Given the description of an element on the screen output the (x, y) to click on. 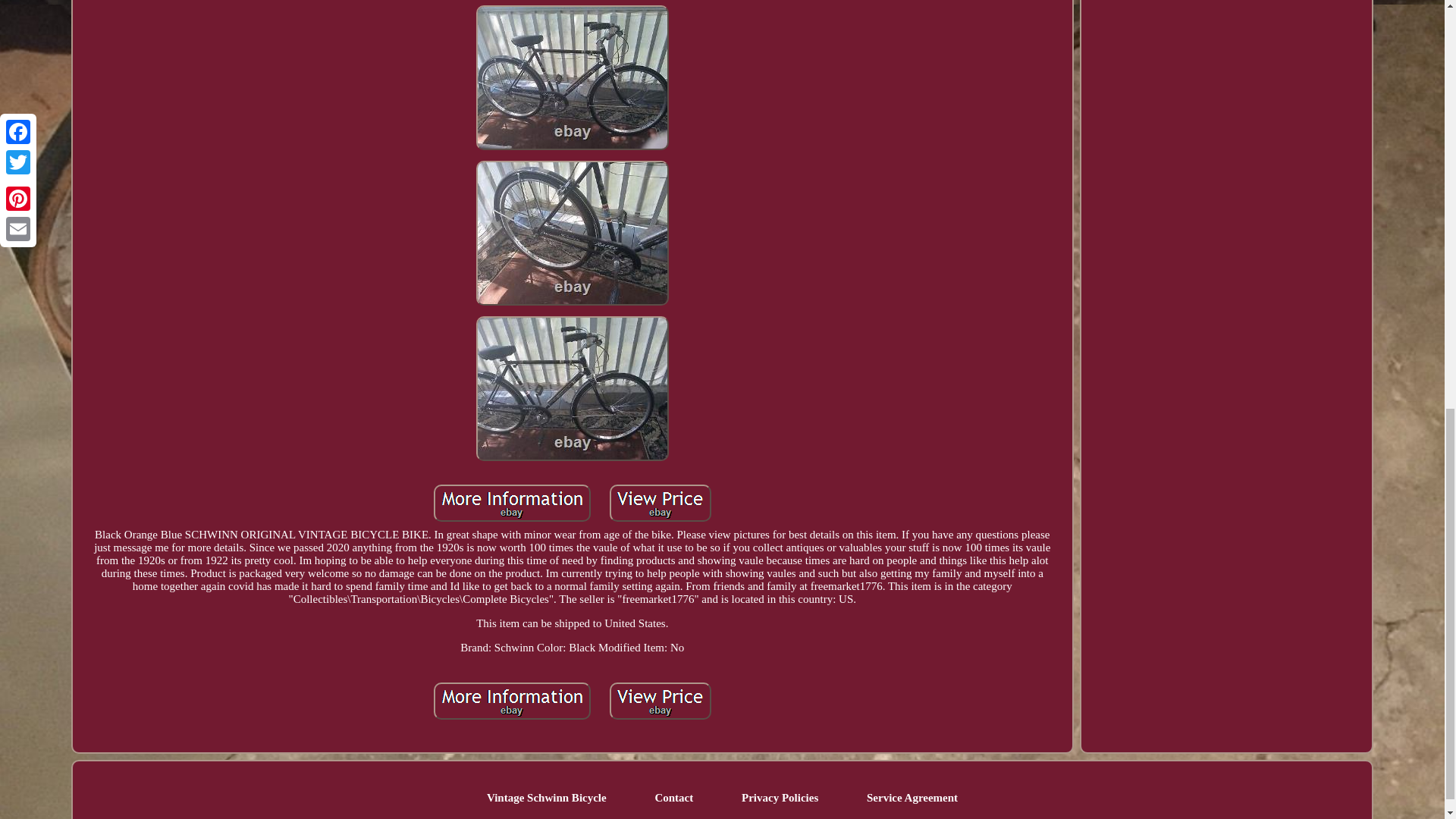
Black Orange Blue SCHWINN ORIGINAL VINTAGE BICYCLE BIKE (512, 502)
Black Orange Blue SCHWINN ORIGINAL VINTAGE BICYCLE BIKE (572, 232)
Black Orange Blue SCHWINN ORIGINAL VINTAGE BICYCLE BIKE (572, 76)
Black Orange Blue SCHWINN ORIGINAL VINTAGE BICYCLE BIKE (512, 700)
Black Orange Blue SCHWINN ORIGINAL VINTAGE BICYCLE BIKE (660, 502)
Black Orange Blue SCHWINN ORIGINAL VINTAGE BICYCLE BIKE (660, 700)
Black Orange Blue SCHWINN ORIGINAL VINTAGE BICYCLE BIKE (572, 388)
